Given the description of an element on the screen output the (x, y) to click on. 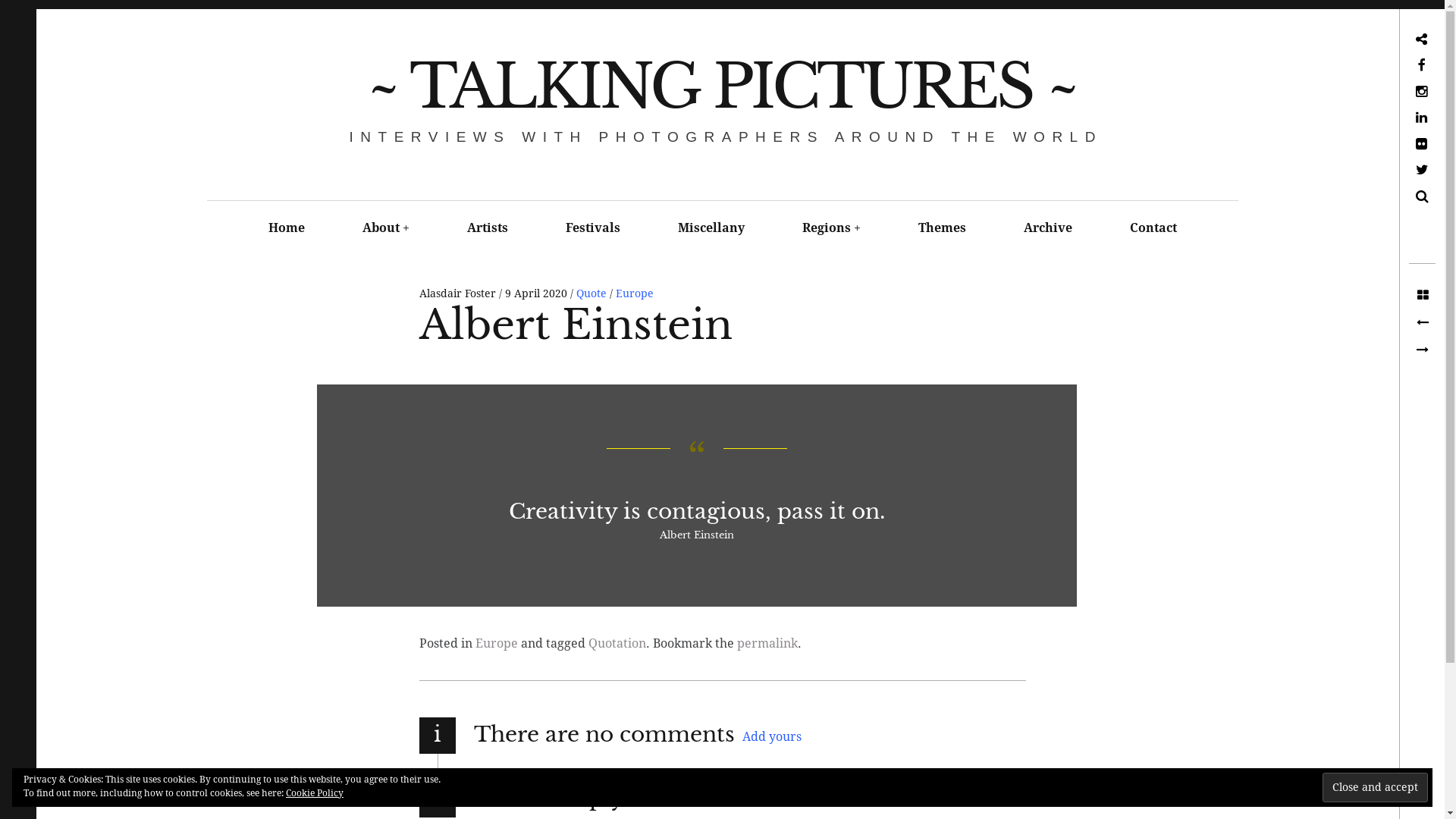
Instagram Element type: text (1367, 91)
Add yours Element type: text (770, 736)
Flickr Element type: text (1377, 144)
Close and accept Element type: text (1374, 787)
Europe Element type: text (495, 643)
Artists Element type: text (487, 228)
Festivals Element type: text (592, 228)
Miscellany Element type: text (710, 228)
Regions Element type: text (826, 228)
Archive Element type: text (1047, 228)
About Element type: text (380, 228)
9 April 2020 Element type: text (536, 293)
Search Element type: text (1376, 196)
Cookie Policy Element type: text (314, 792)
~ TALKING PICTURES ~ Element type: text (721, 86)
permalink Element type: text (767, 643)
Quotation Element type: text (617, 643)
Themes Element type: text (941, 228)
Twitter Element type: text (1374, 169)
Europe Element type: text (634, 293)
Contact Element type: text (1153, 228)
Facebook Element type: text (1369, 65)
Home Element type: text (286, 228)
Quote Element type: text (592, 293)
Alasdair Foster Element type: text (458, 293)
Search Element type: text (22, 16)
Linked In Element type: text (1369, 117)
Legals Element type: text (1376, 39)
